Given the description of an element on the screen output the (x, y) to click on. 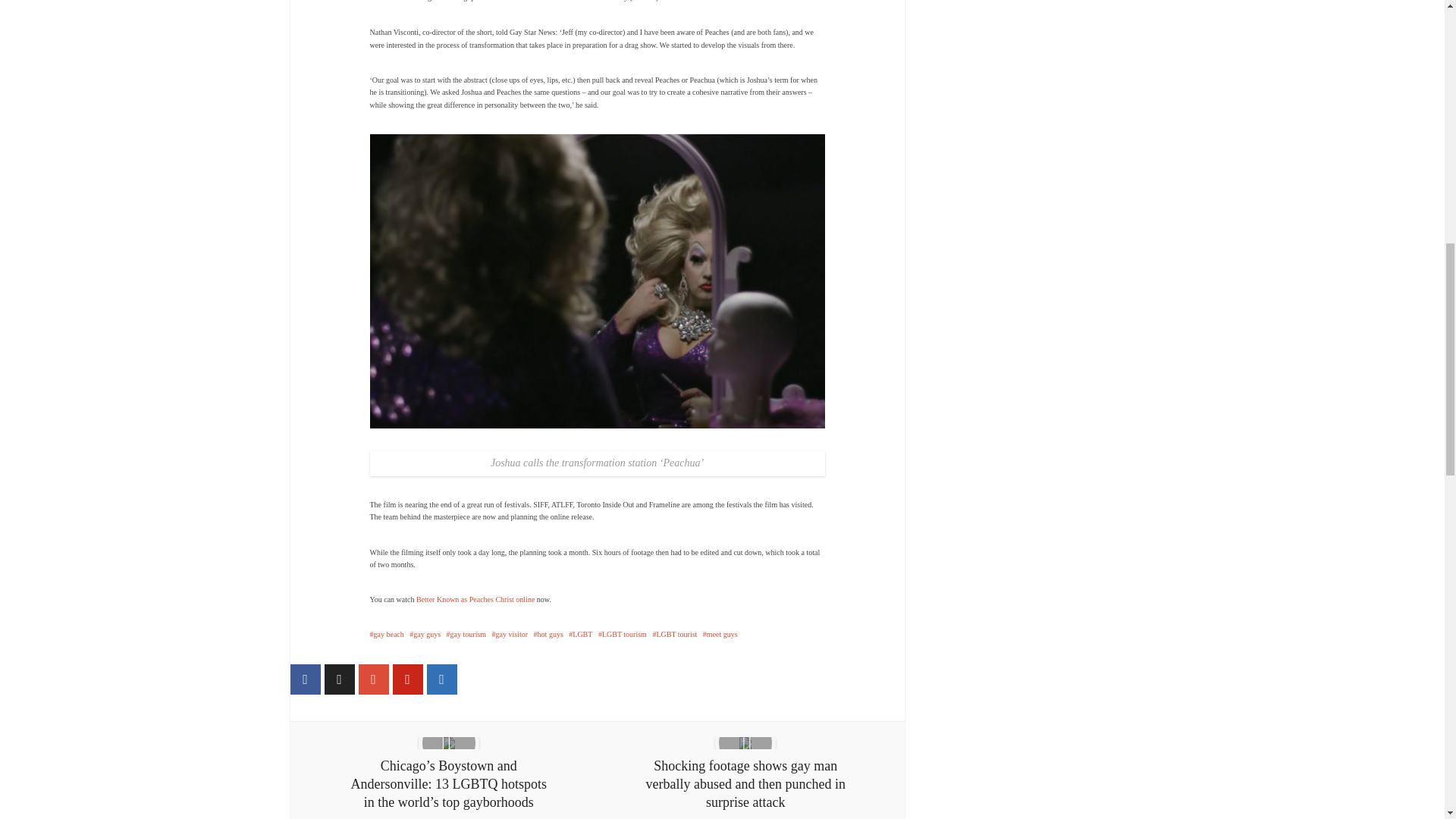
gay visitor (510, 633)
gay tourism (466, 633)
Better Known as Peaches Christ online (475, 599)
hot guys (548, 633)
meet guys (720, 633)
LGBT tourist (674, 633)
gay guys (425, 633)
gay beach (386, 633)
LGBT (580, 633)
LGBT tourism (622, 633)
